Given the description of an element on the screen output the (x, y) to click on. 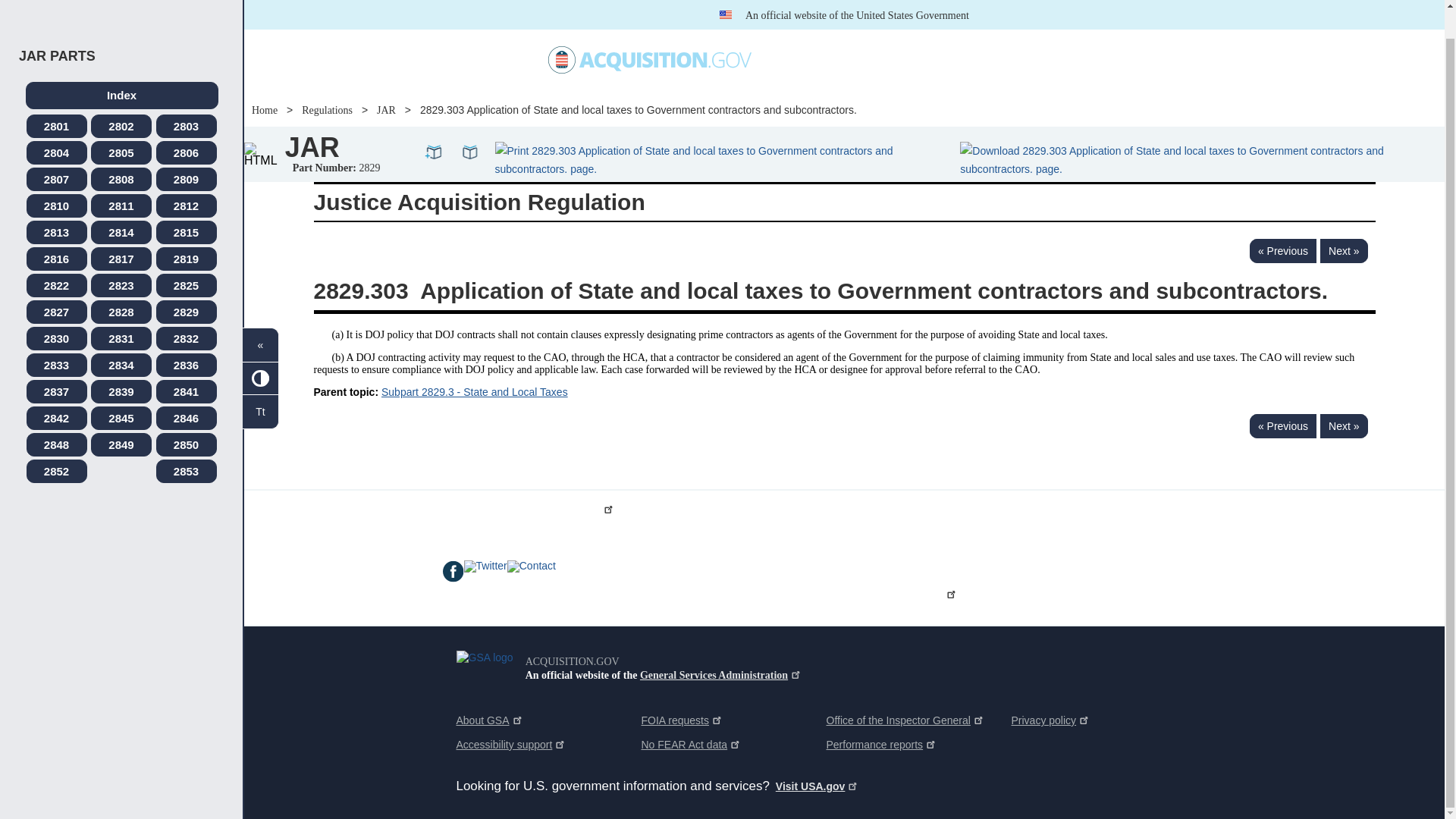
Data Initiatives (803, 30)
Add Bookmark (433, 123)
Regulations (890, 30)
Previous (1282, 250)
Regulations (890, 30)
Tools (958, 31)
Open bookmarks. (470, 123)
Data Initiatives (803, 30)
